Given the description of an element on the screen output the (x, y) to click on. 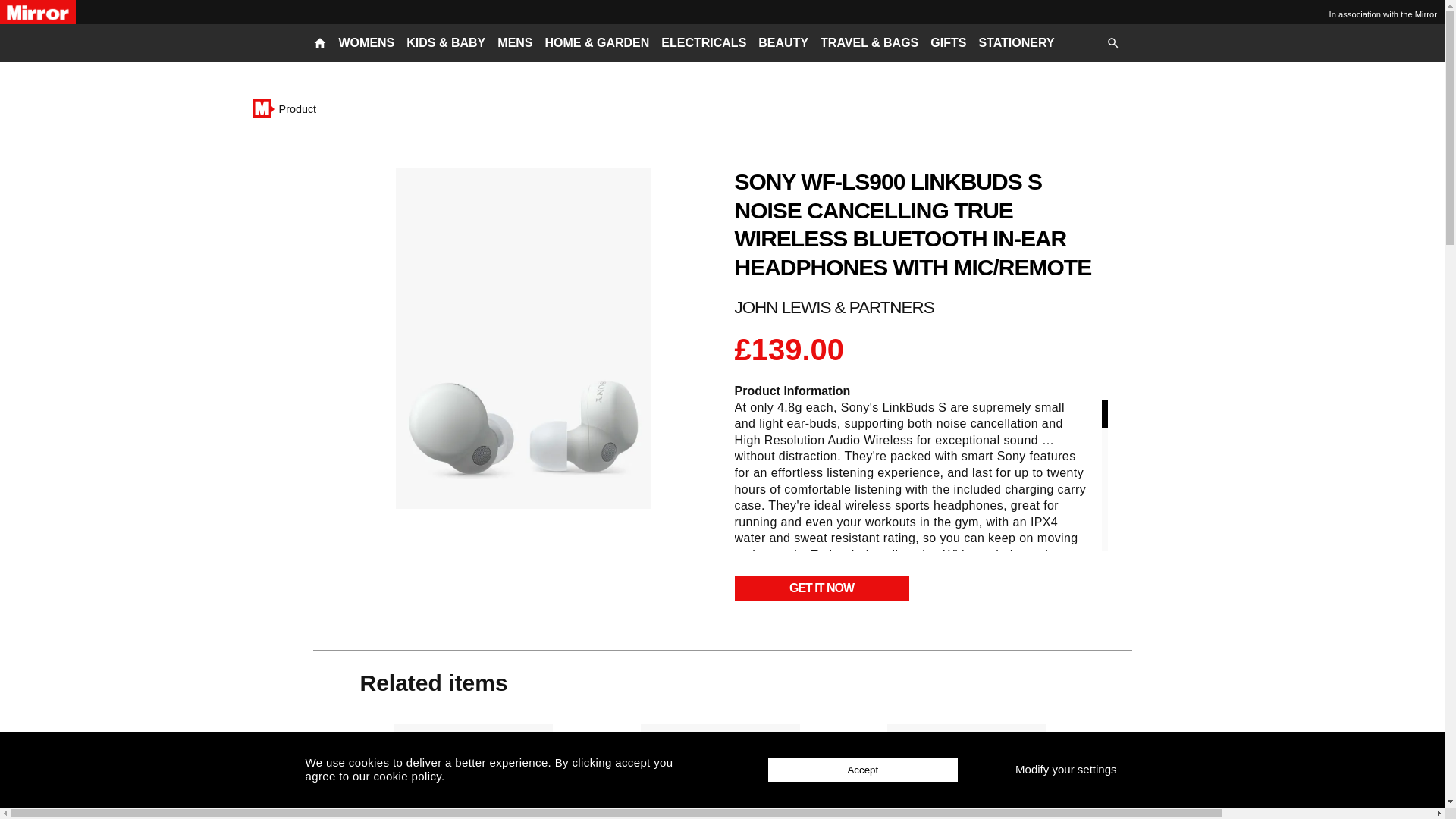
STATIONERY (1016, 43)
GET IT NOW (820, 588)
WOMENS (365, 43)
ELECTRICALS (703, 43)
MENS (514, 43)
BEAUTY (783, 43)
GIFTS (948, 43)
Home (260, 107)
Accept (863, 770)
